Given the description of an element on the screen output the (x, y) to click on. 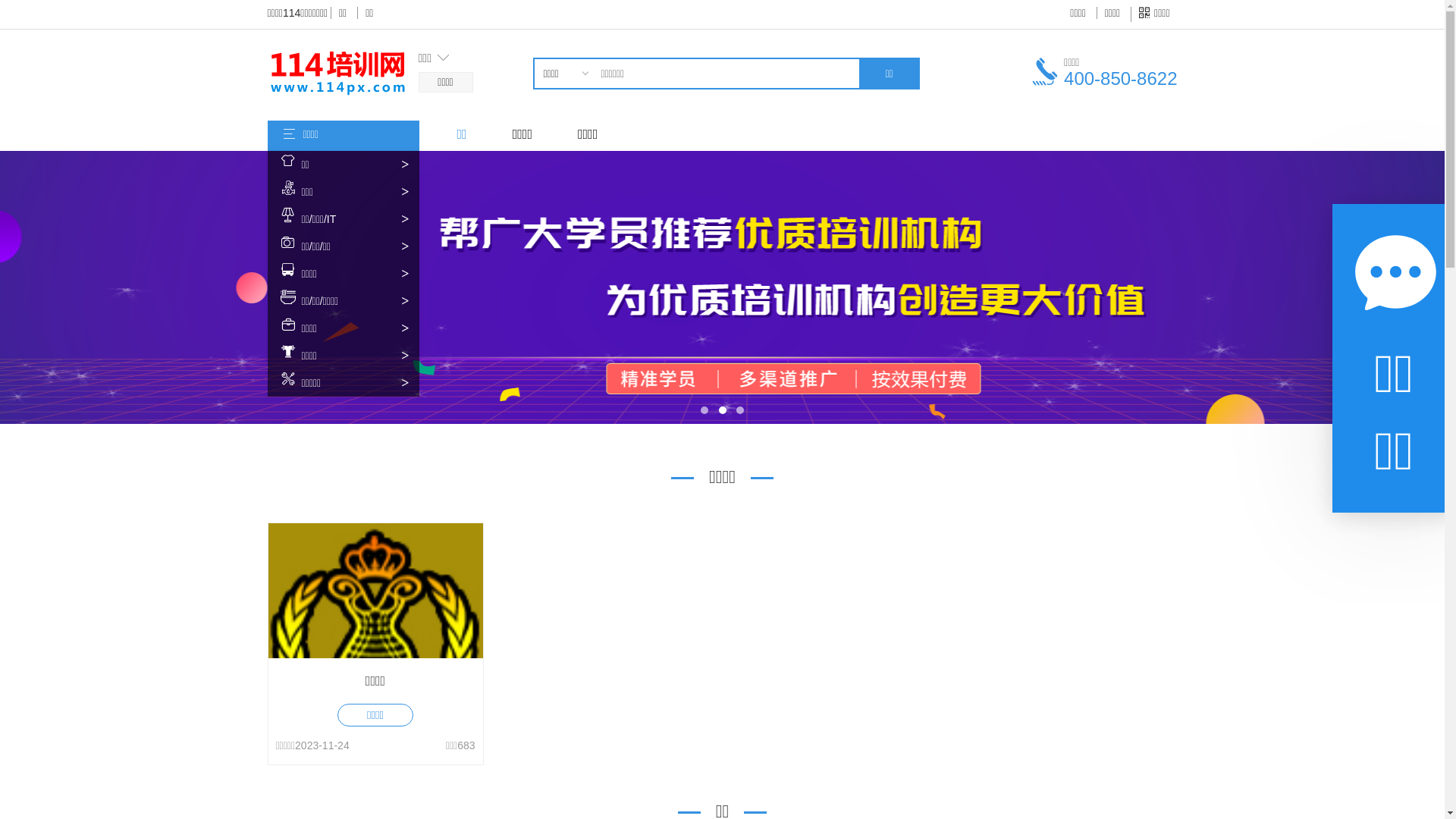
0 Element type: text (563, 100)
0 Element type: text (563, 119)
